Given the description of an element on the screen output the (x, y) to click on. 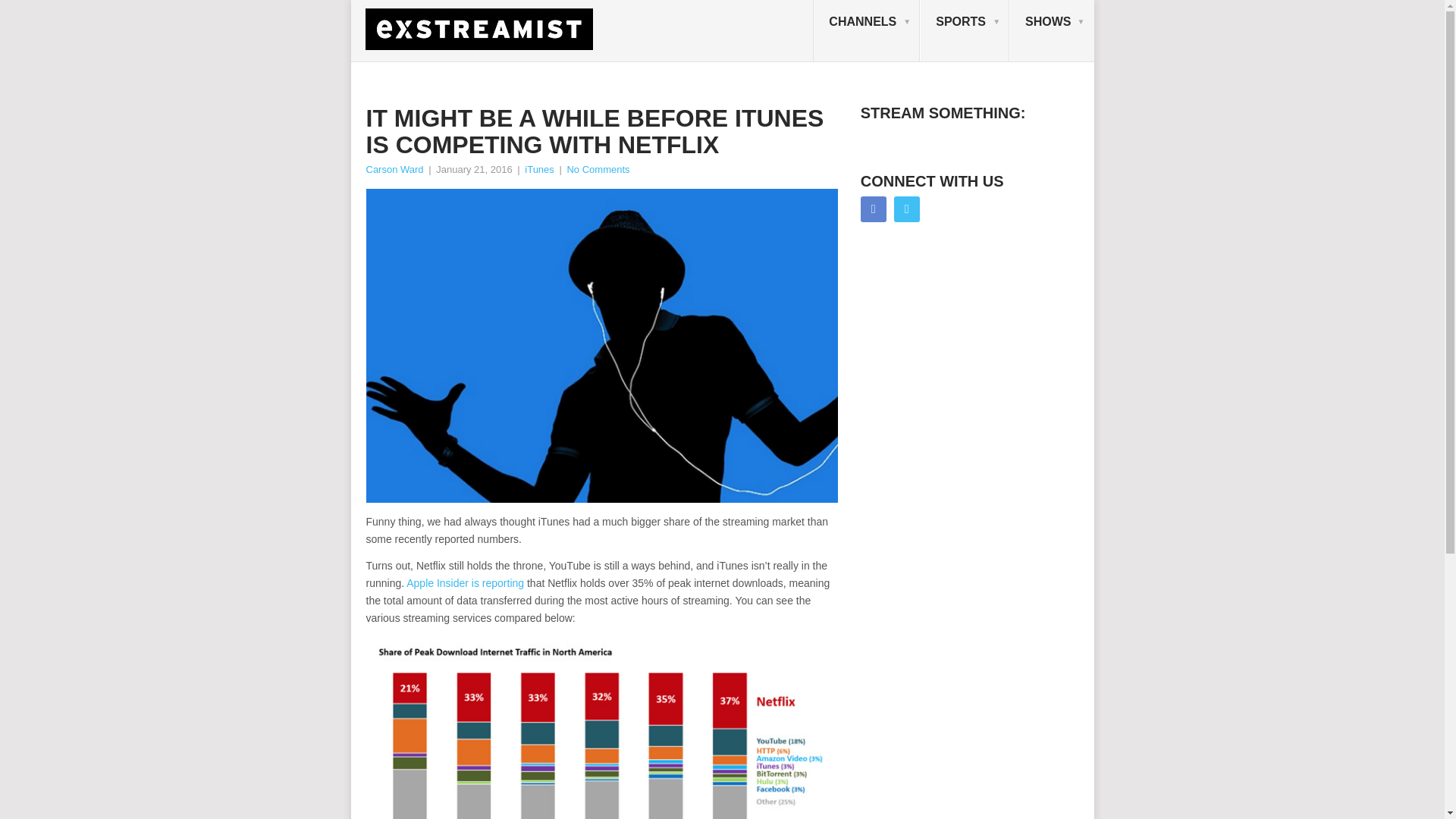
Watch Sports Online (964, 31)
Facebook (873, 208)
Watch TV Shows Online (1051, 31)
Twitter (906, 208)
CHANNELS (866, 31)
Watch TV Channels Online (866, 31)
SPORTS (964, 31)
Posts by Carson Ward (394, 169)
